Given the description of an element on the screen output the (x, y) to click on. 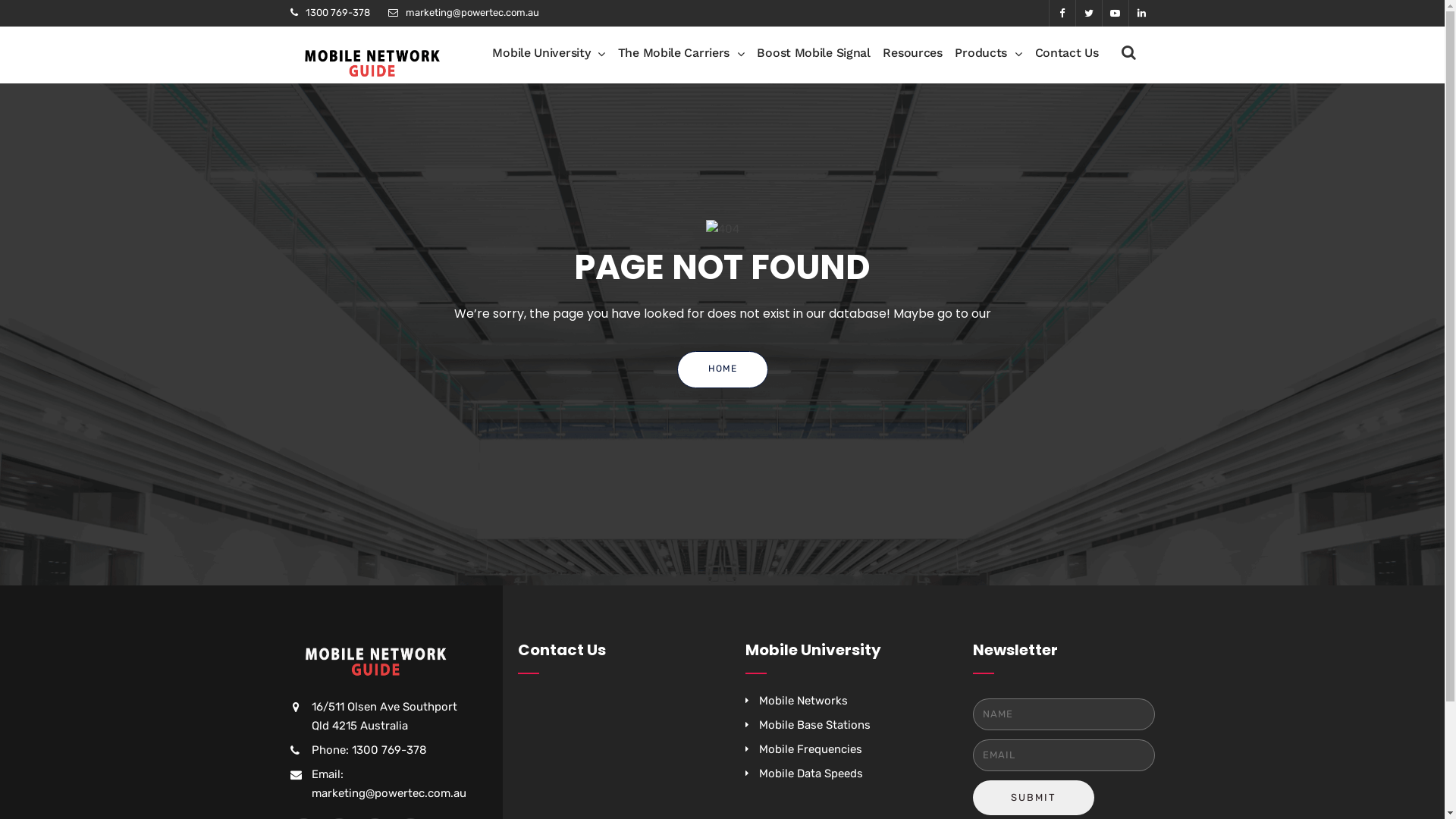
Boost Mobile Signal Element type: text (812, 52)
Mobile University Element type: text (548, 53)
marketing@powertec.com.au Element type: text (471, 12)
HOME Element type: text (721, 369)
SUBMIT Element type: text (1032, 797)
Mobile Base Stations Element type: text (813, 724)
Resources Element type: text (911, 52)
The Mobile Carriers Element type: text (681, 53)
1300 769-378 Element type: text (336, 12)
Products Element type: text (987, 53)
Mobile Networks Element type: text (802, 700)
Mobile Data Speeds Element type: text (810, 773)
Mobile Frequencies Element type: text (809, 749)
Contact Us Element type: text (1066, 52)
